Given the description of an element on the screen output the (x, y) to click on. 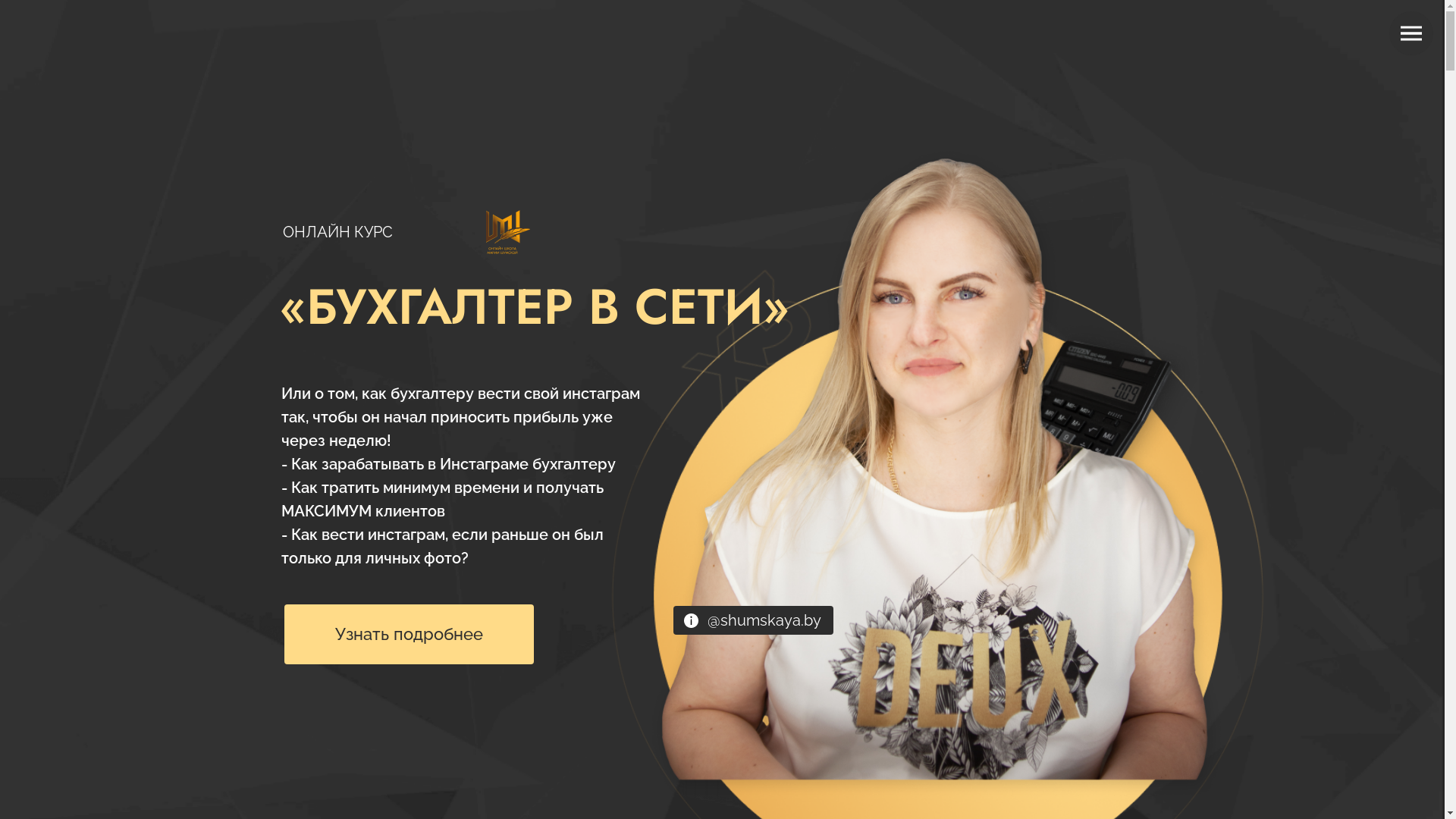
@shumskaya.by Element type: text (763, 620)
